Given the description of an element on the screen output the (x, y) to click on. 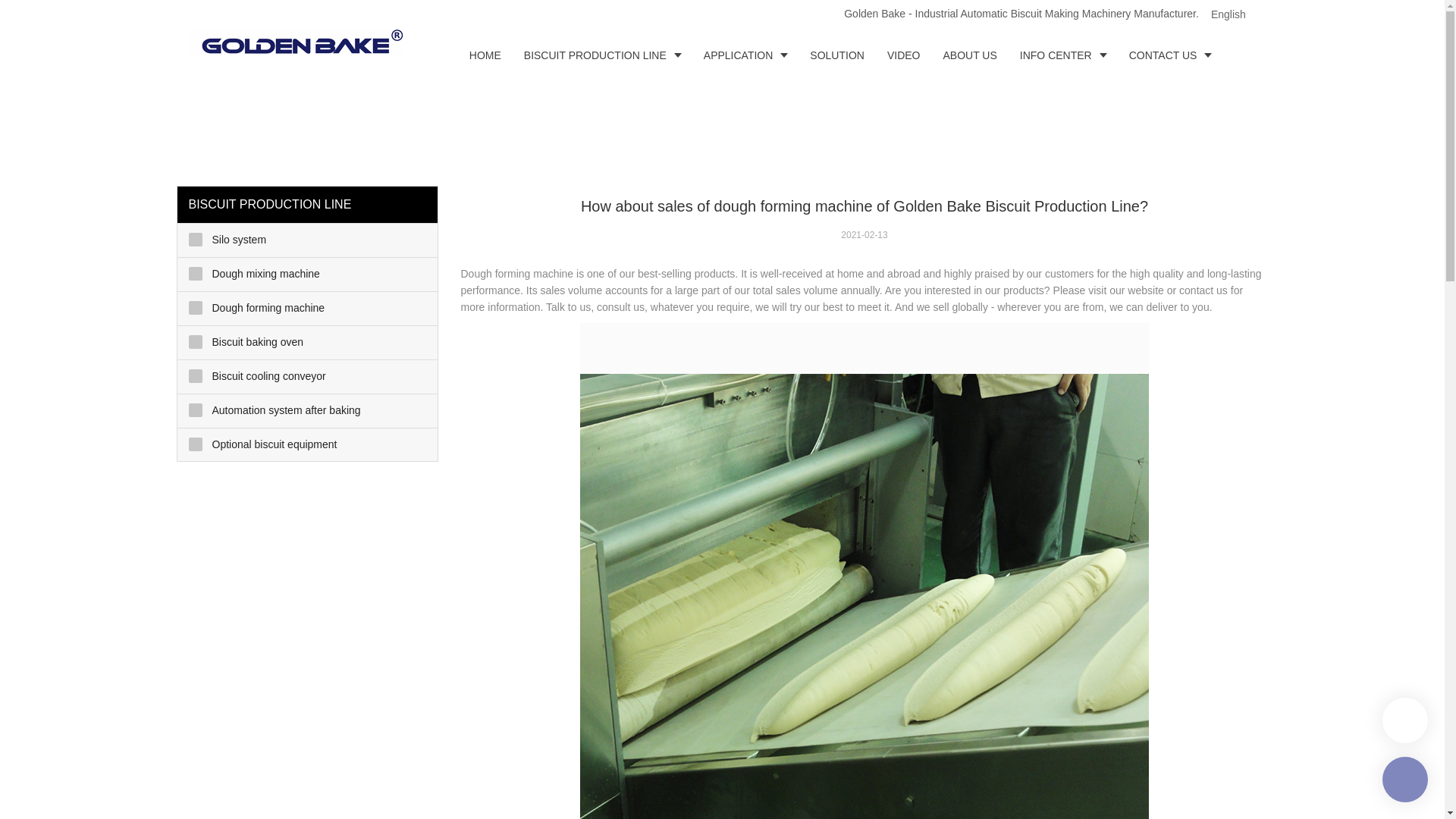
BISCUIT PRODUCTION LINE (602, 55)
HOME (485, 55)
APPLICATION (746, 55)
